Given the description of an element on the screen output the (x, y) to click on. 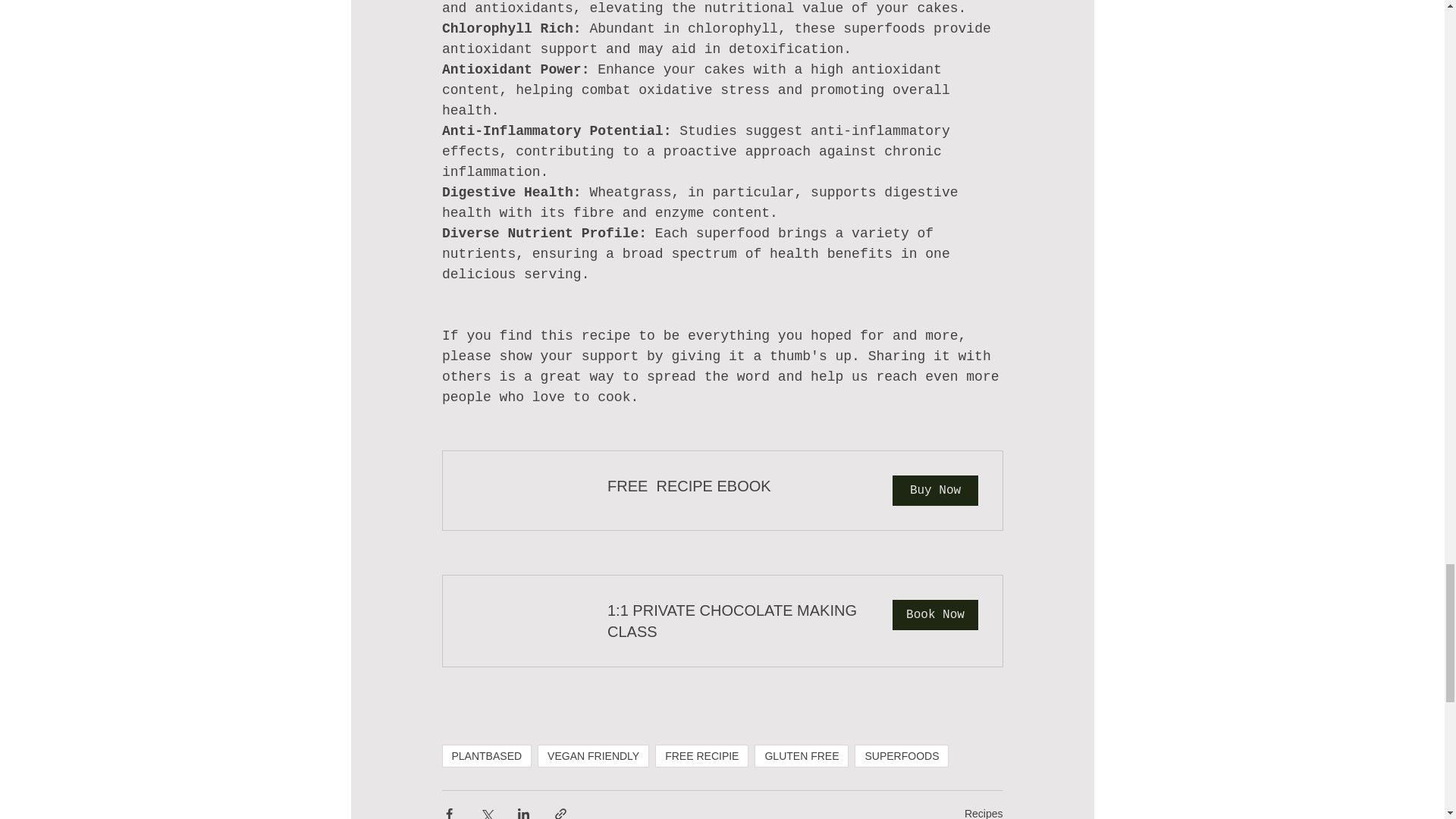
PLANTBASED (486, 755)
FREE RECIPIE (701, 755)
GLUTEN FREE (801, 755)
VEGAN FRIENDLY (593, 755)
SUPERFOODS (901, 755)
Recipes (722, 620)
